Given the description of an element on the screen output the (x, y) to click on. 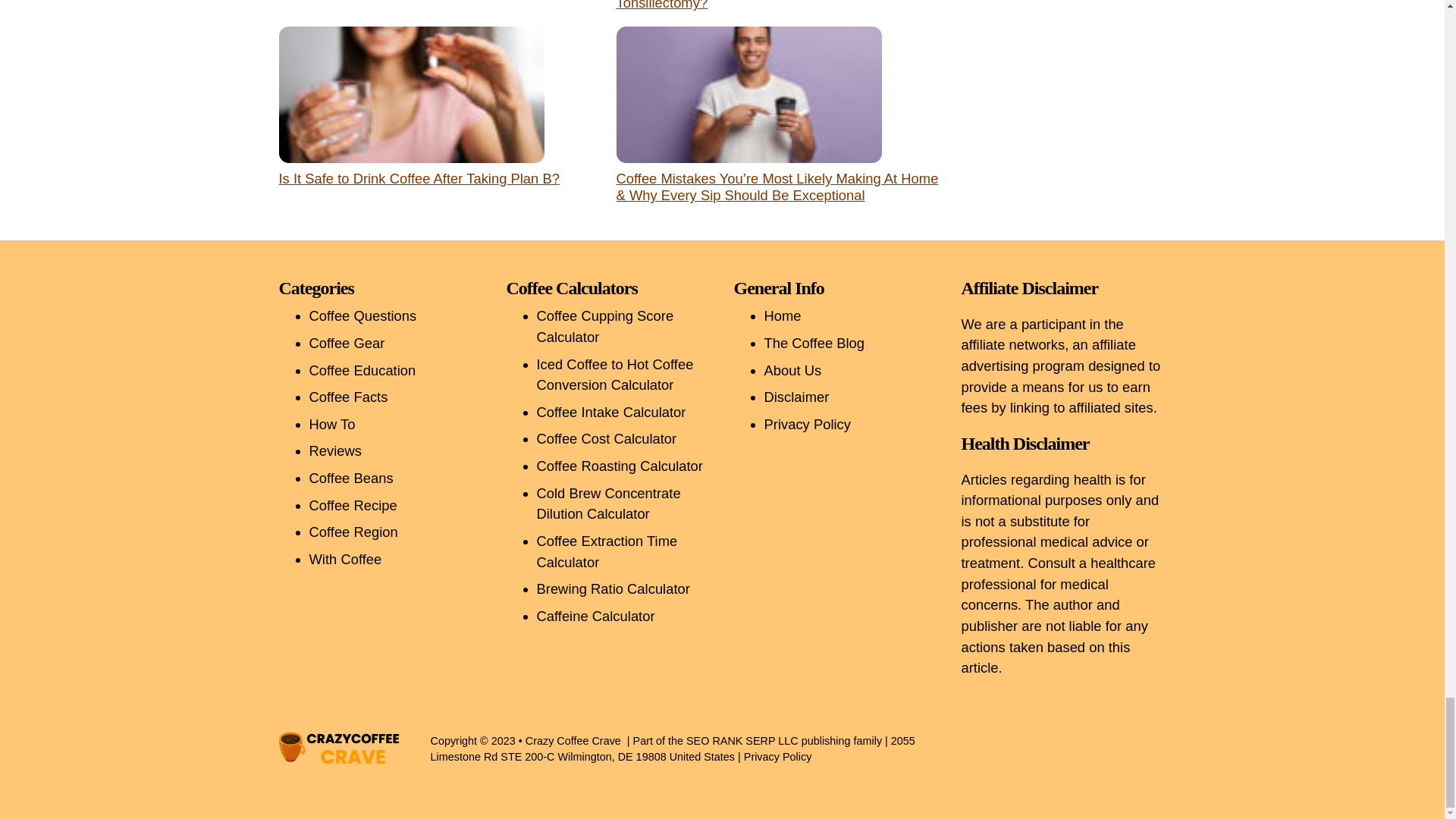
Is It Safe to Drink Coffee After Taking Plan B? (419, 178)
When Can You Drink Coffee Again After Tonsillectomy? (738, 5)
